Given the description of an element on the screen output the (x, y) to click on. 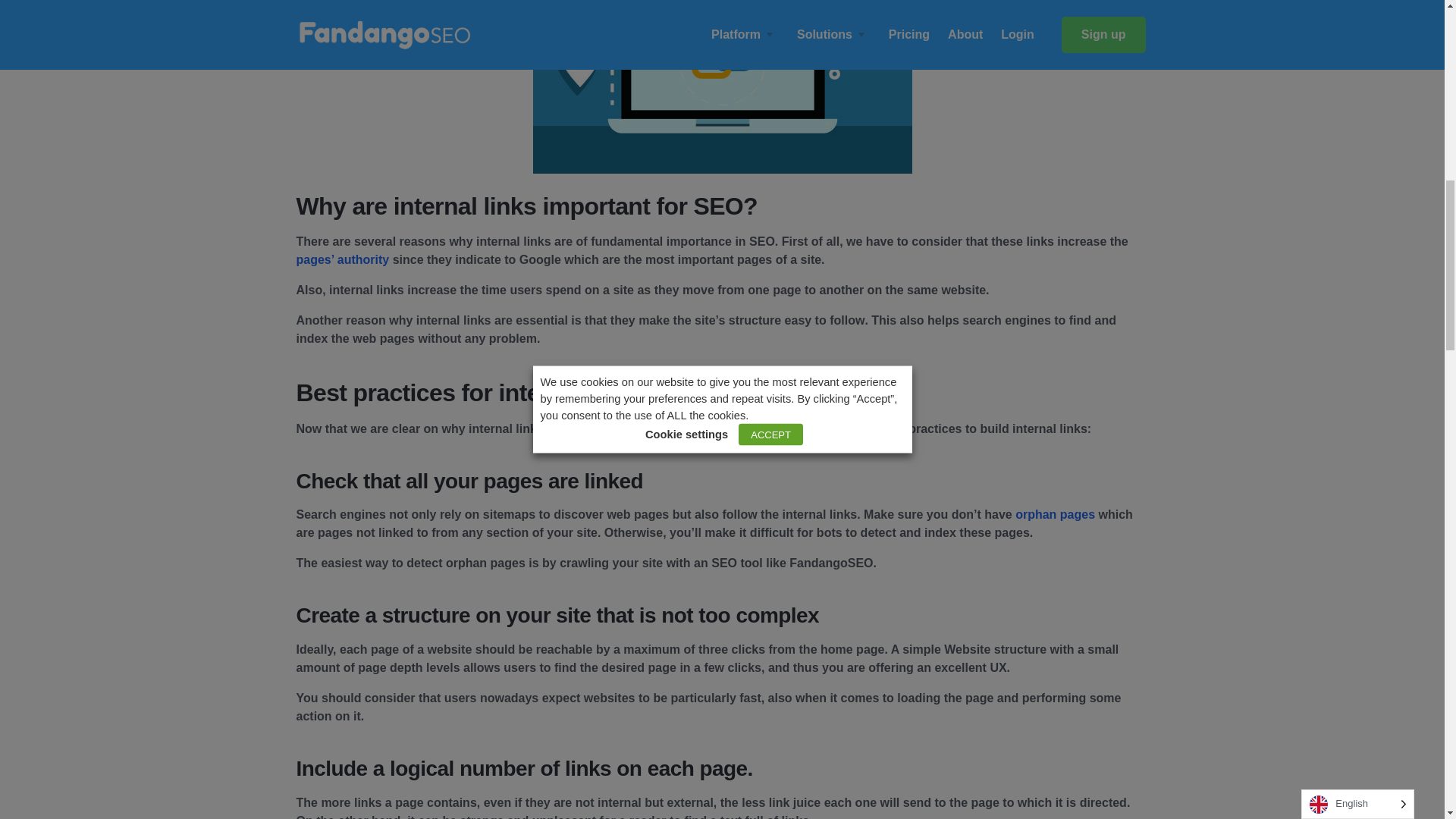
orphan pages (1054, 513)
